Given the description of an element on the screen output the (x, y) to click on. 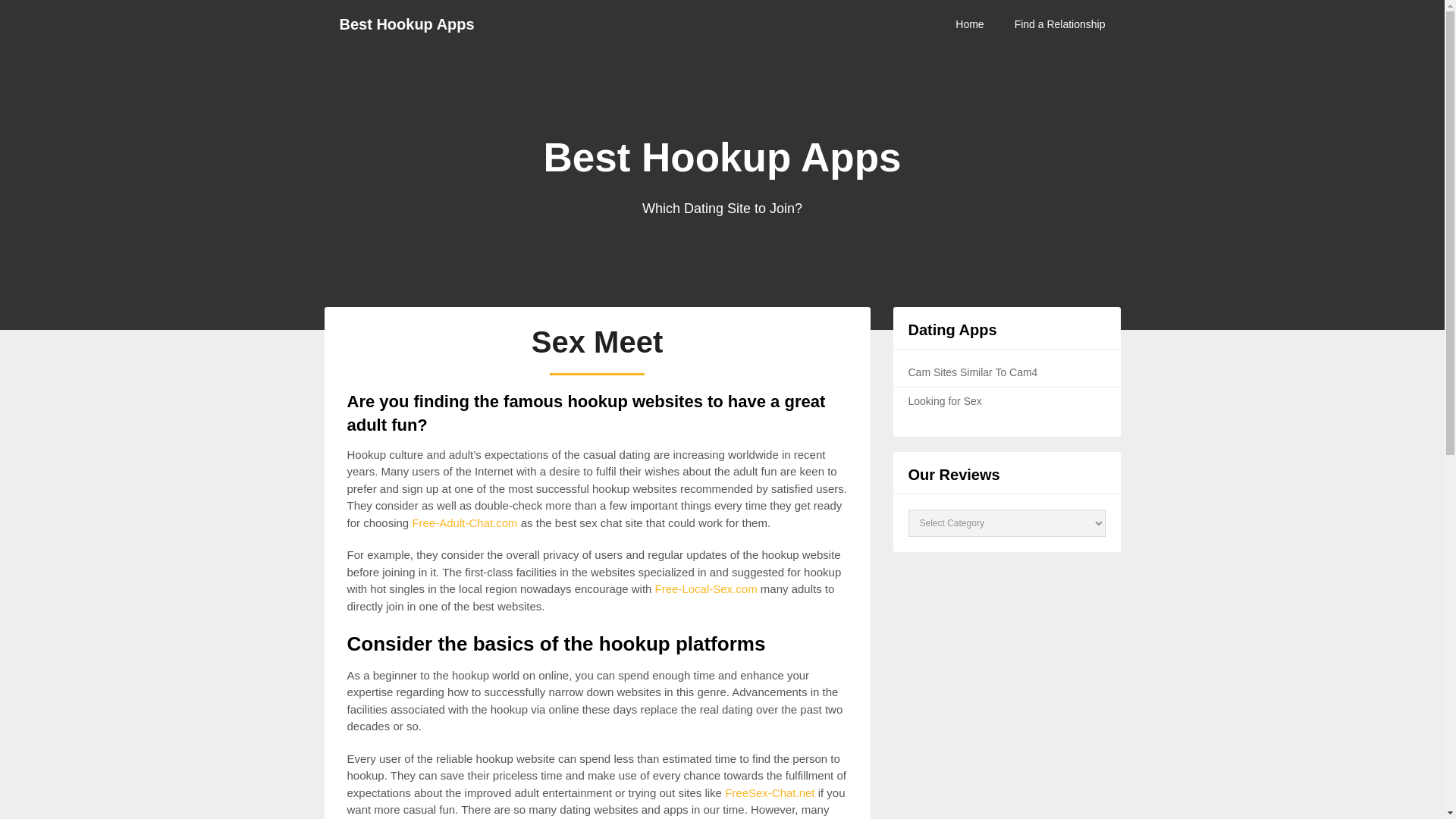
Looking for Sex (944, 400)
Free-Local-Sex.com (706, 588)
Find a Relationship (1059, 24)
Free-Adult-Chat.com (464, 522)
FreeSex-Chat.net (769, 792)
Cam Sites Similar To Cam4 (973, 372)
Best Hookup Apps (406, 24)
